Given the description of an element on the screen output the (x, y) to click on. 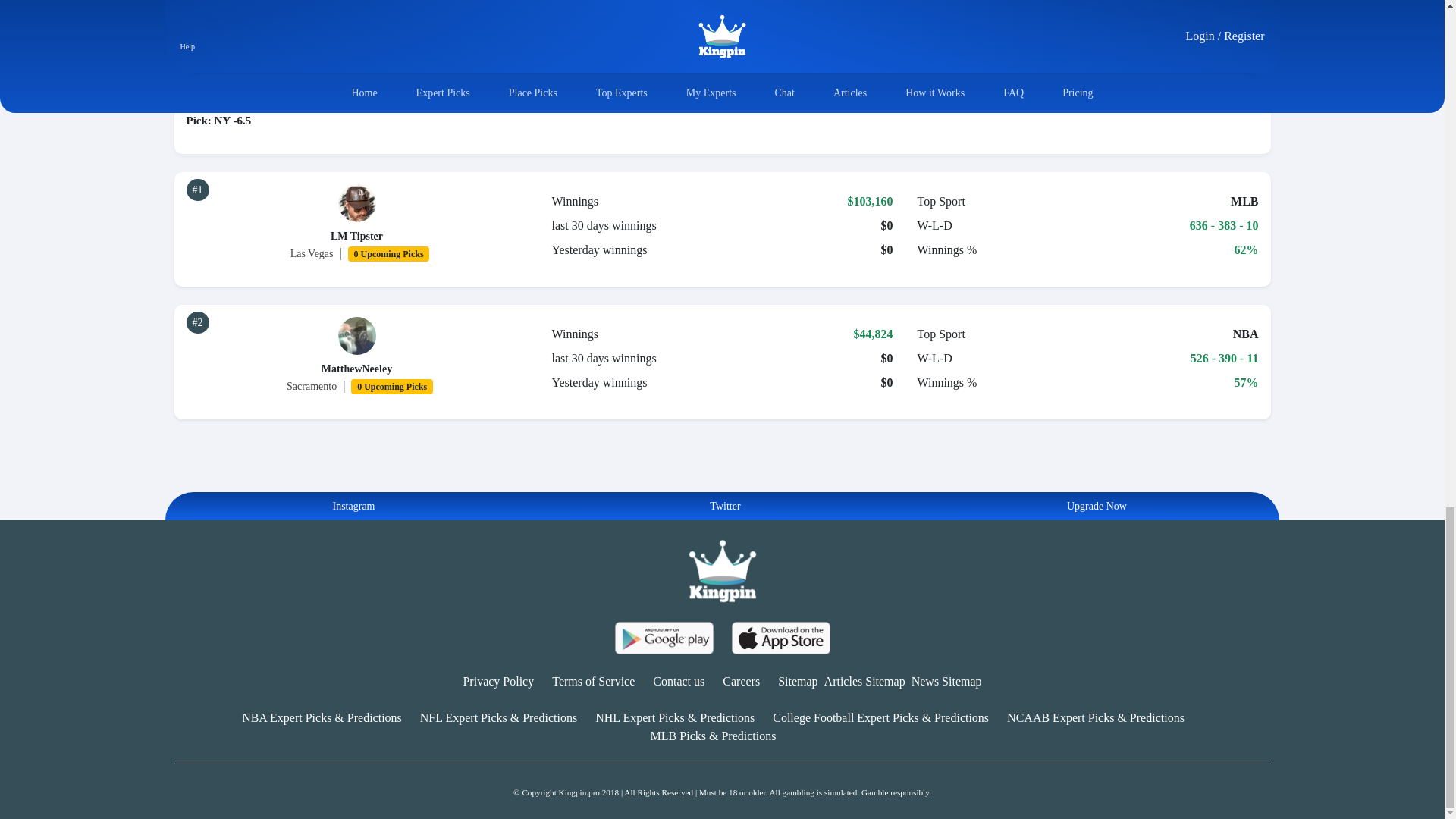
0 Upcoming Picks (391, 385)
Terms of Service (592, 680)
Careers (741, 680)
Articles Sitemap (864, 680)
Twitter (721, 505)
LM Tipster (356, 235)
Instagram (350, 505)
Privacy Policy (498, 680)
Contact us (678, 680)
Upgrade Now (1093, 505)
Sitemap (796, 680)
MatthewNeeley (356, 368)
News Sitemap (946, 680)
0 Upcoming Picks (388, 252)
